Given the description of an element on the screen output the (x, y) to click on. 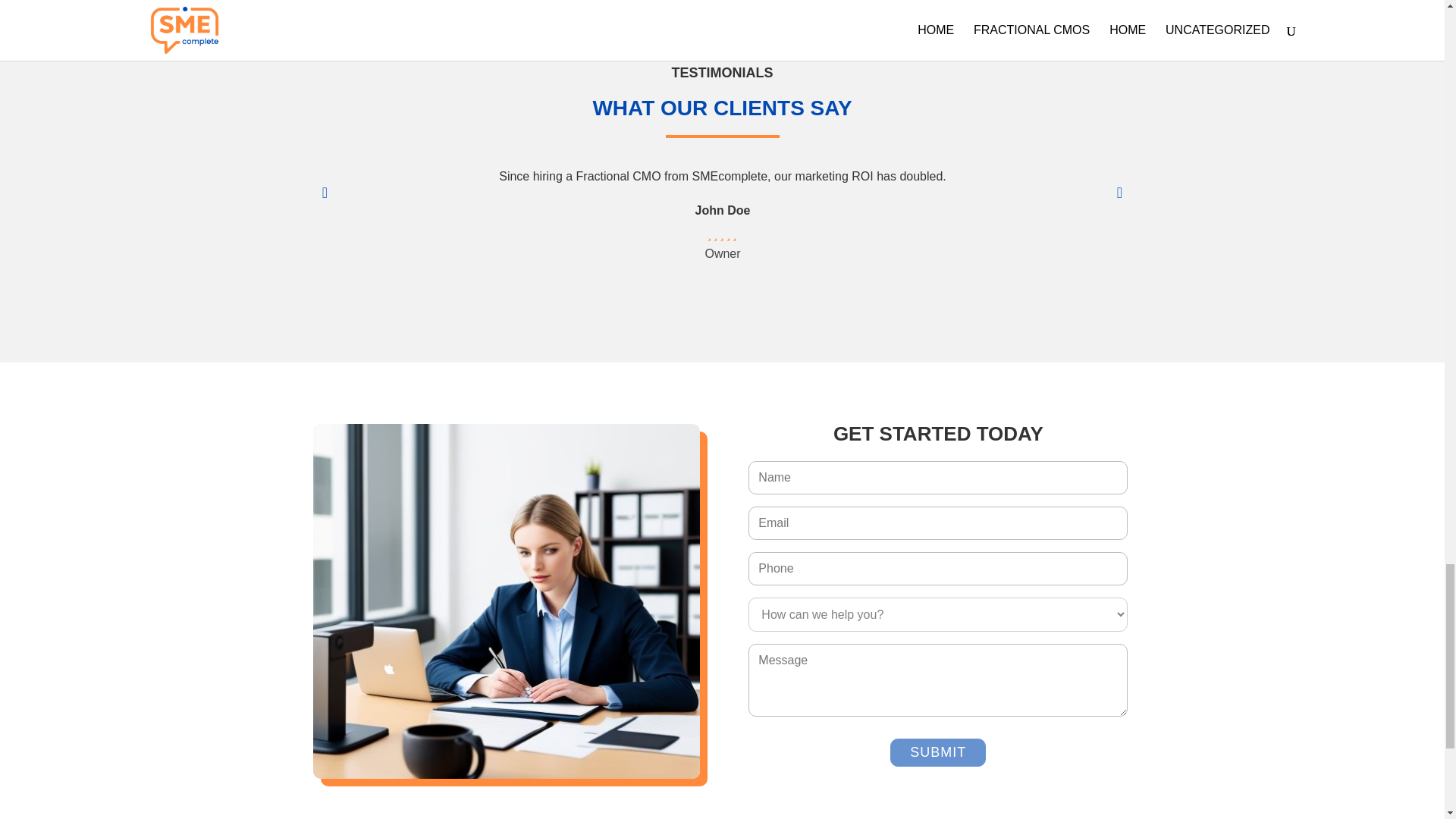
Submit (937, 752)
Submit (937, 752)
